Given the description of an element on the screen output the (x, y) to click on. 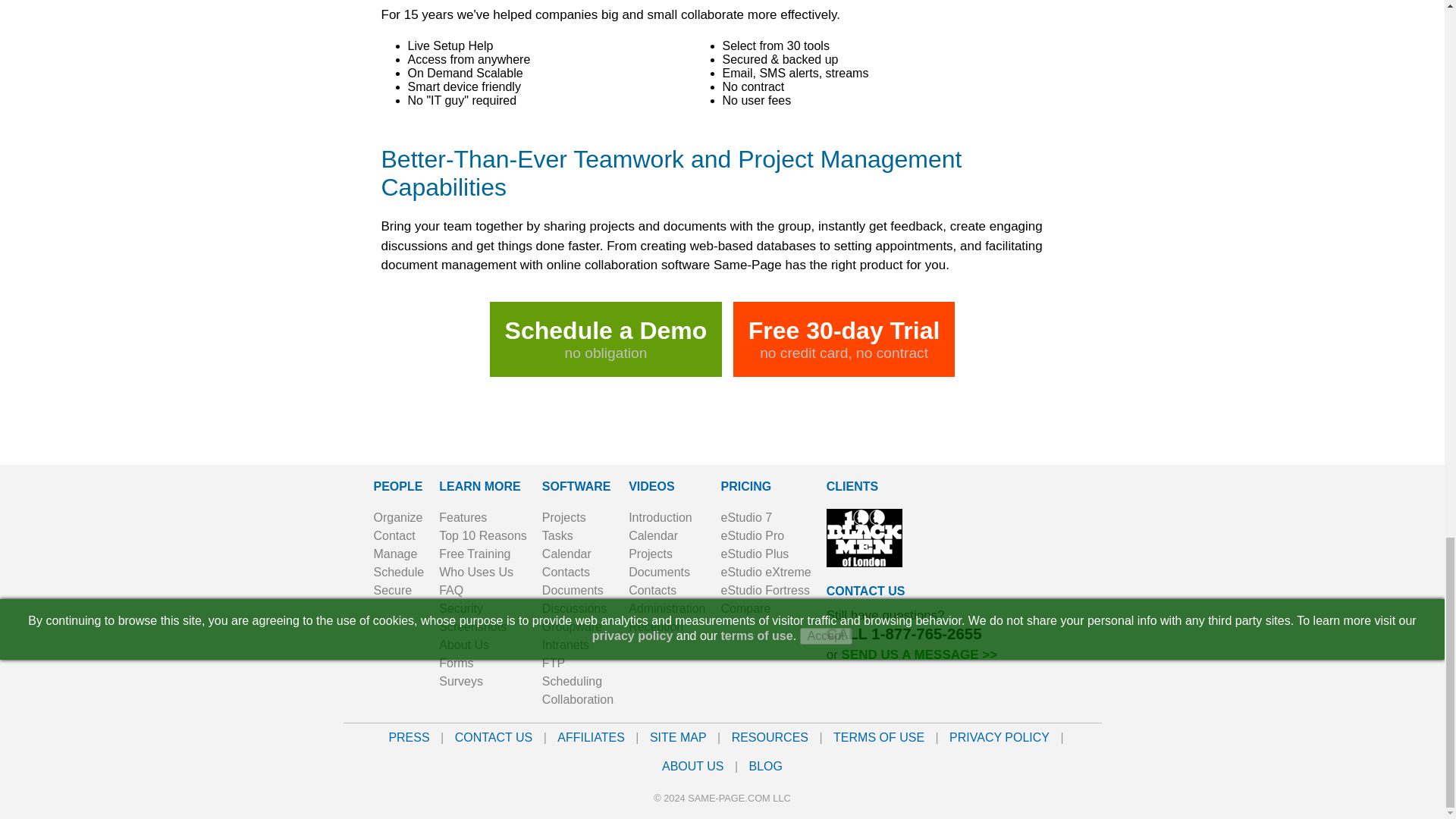
Organize (397, 516)
PEOPLE (397, 486)
Contact (393, 534)
